Given the description of an element on the screen output the (x, y) to click on. 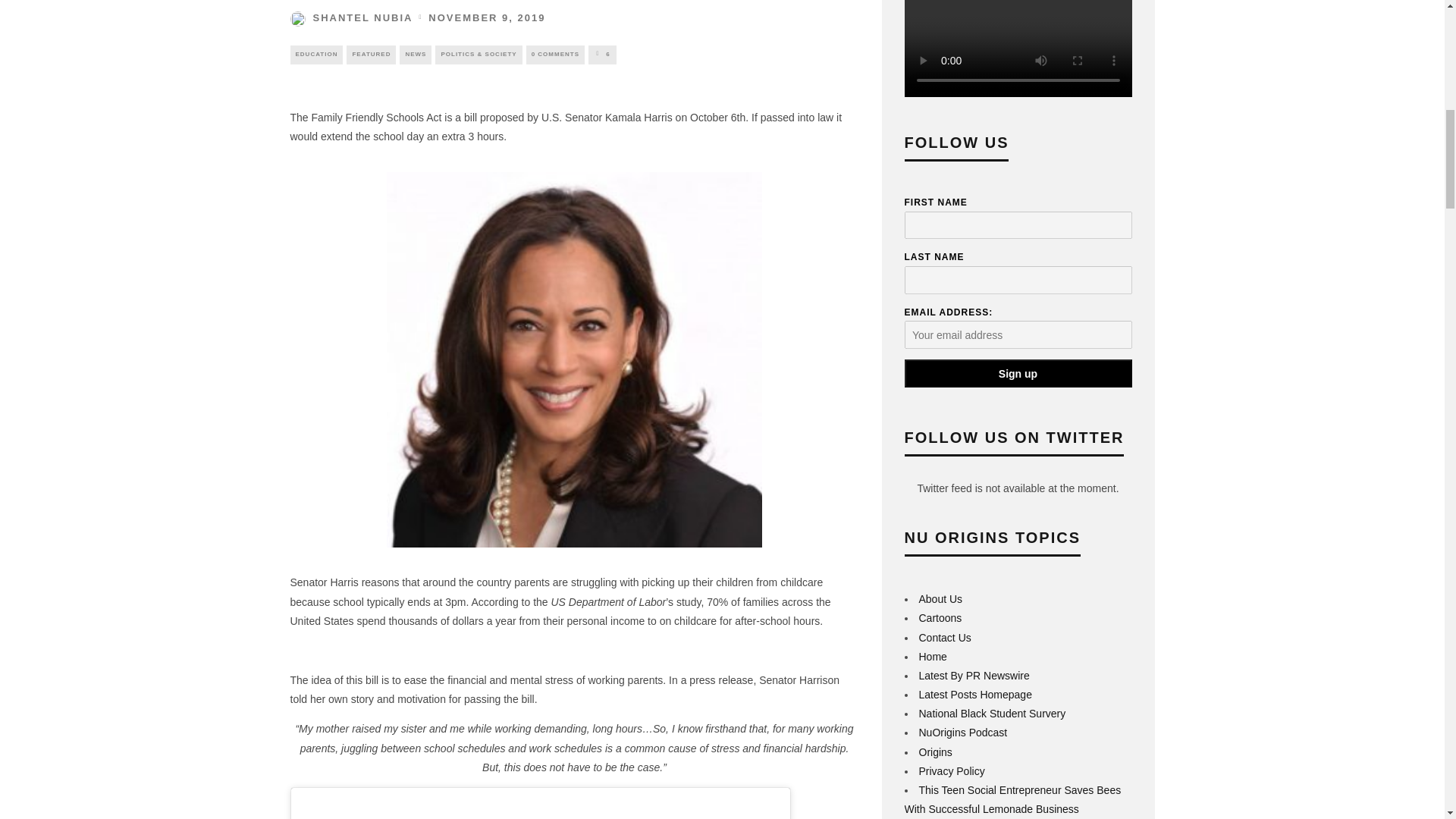
View all posts in Featured (371, 54)
View all posts in News (414, 54)
View all posts in Education (315, 54)
Sign up (1017, 373)
